Given the description of an element on the screen output the (x, y) to click on. 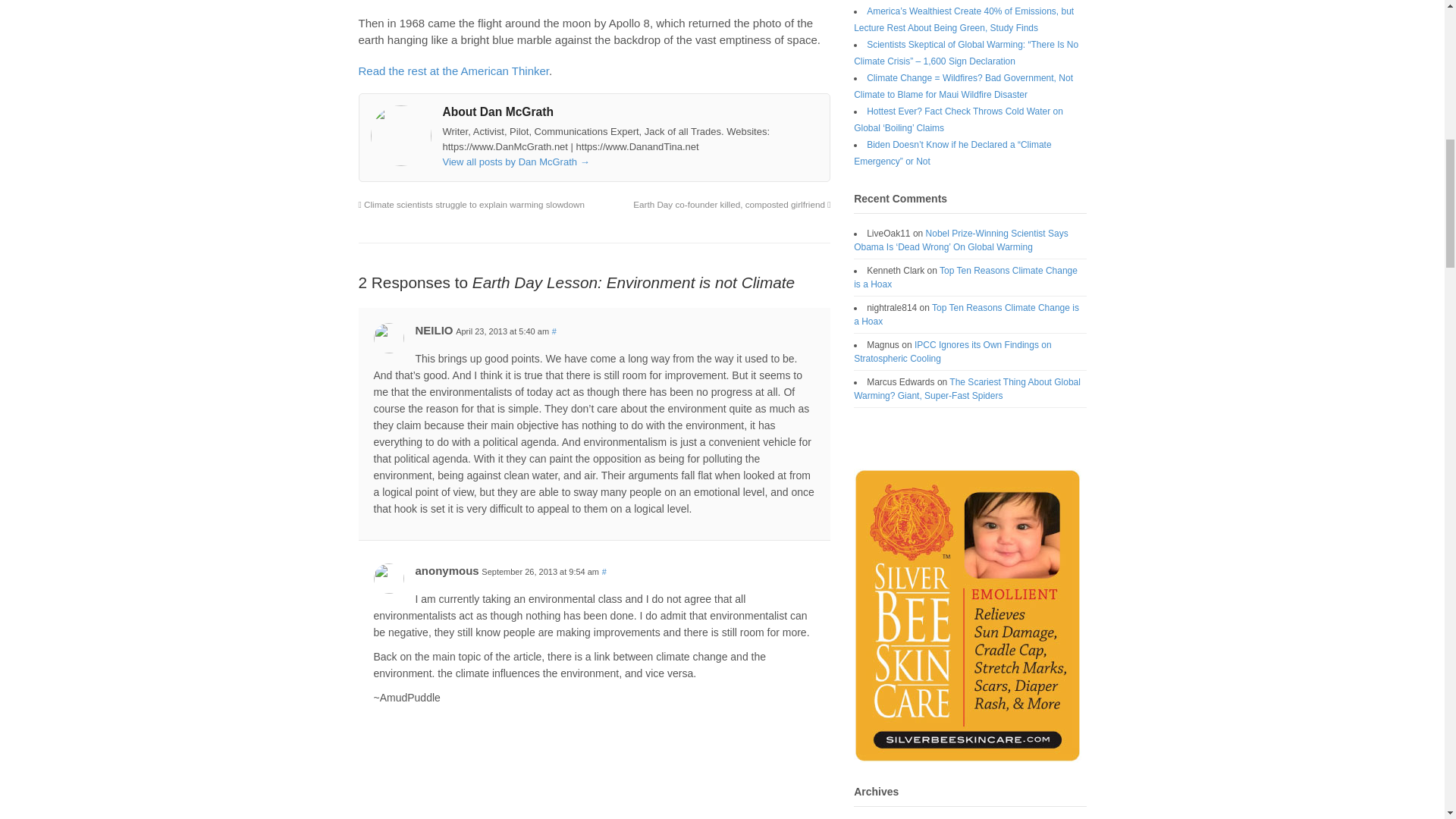
Climate scientists struggle to explain warming slowdown (471, 204)
Direct link to this comment (553, 330)
Read the rest at the American Thinker (453, 70)
Top Ten Reasons Climate Change is a Hoax (965, 277)
Earth Day co-founder killed, composted girlfriend (731, 204)
Top Ten Reasons Climate Change is a Hoax (965, 314)
IPCC Ignores its Own Findings on Stratospheric Cooling (952, 351)
Direct link to this comment (604, 571)
